Given the description of an element on the screen output the (x, y) to click on. 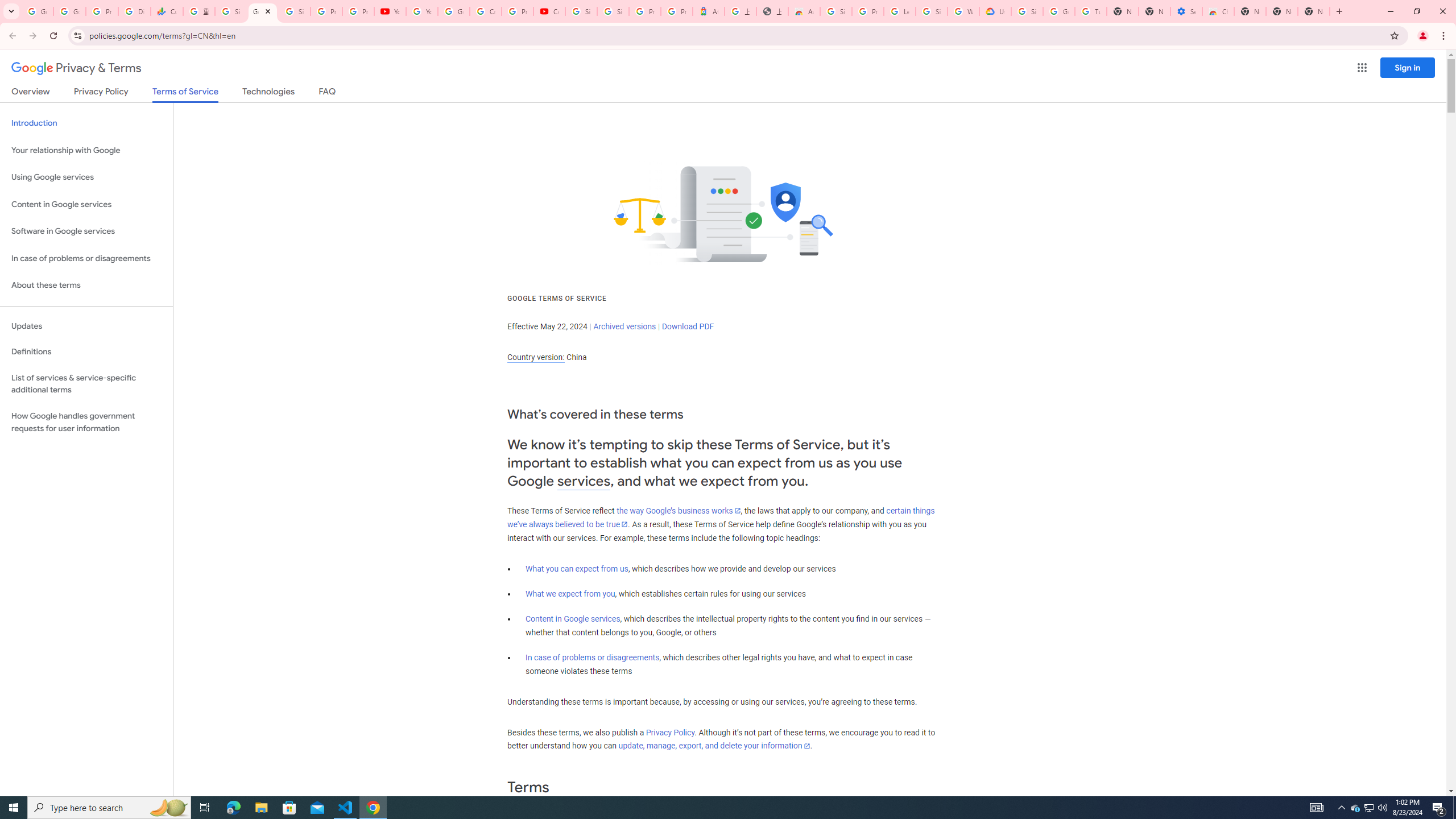
Who are Google's partners? - Privacy and conditions - Google (963, 11)
Country version: (535, 357)
Definitions (86, 352)
Sign in - Google Accounts (294, 11)
Google Workspace Admin Community (37, 11)
List of services & service-specific additional terms (86, 383)
